Given the description of an element on the screen output the (x, y) to click on. 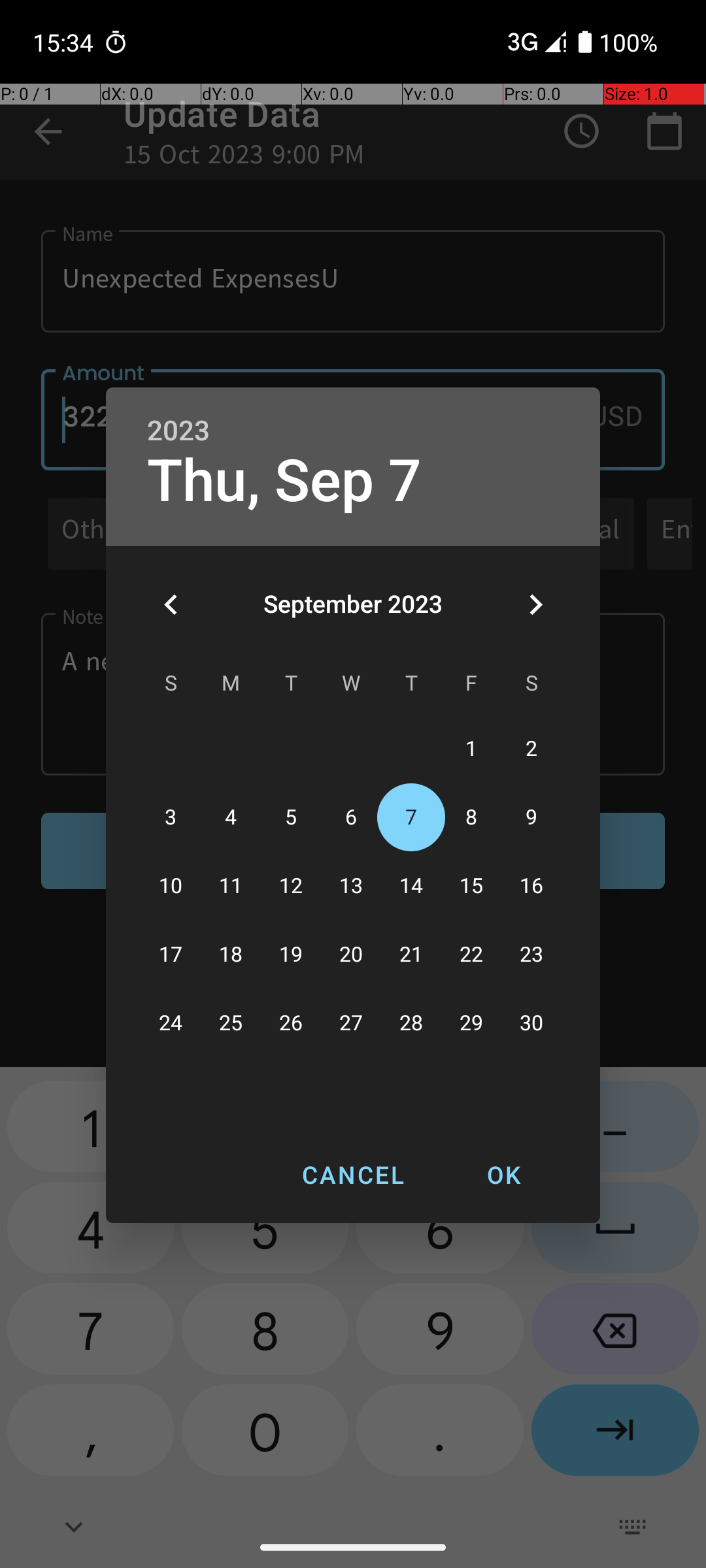
Thu, Sep 7 Element type: android.widget.TextView (284, 480)
